Given the description of an element on the screen output the (x, y) to click on. 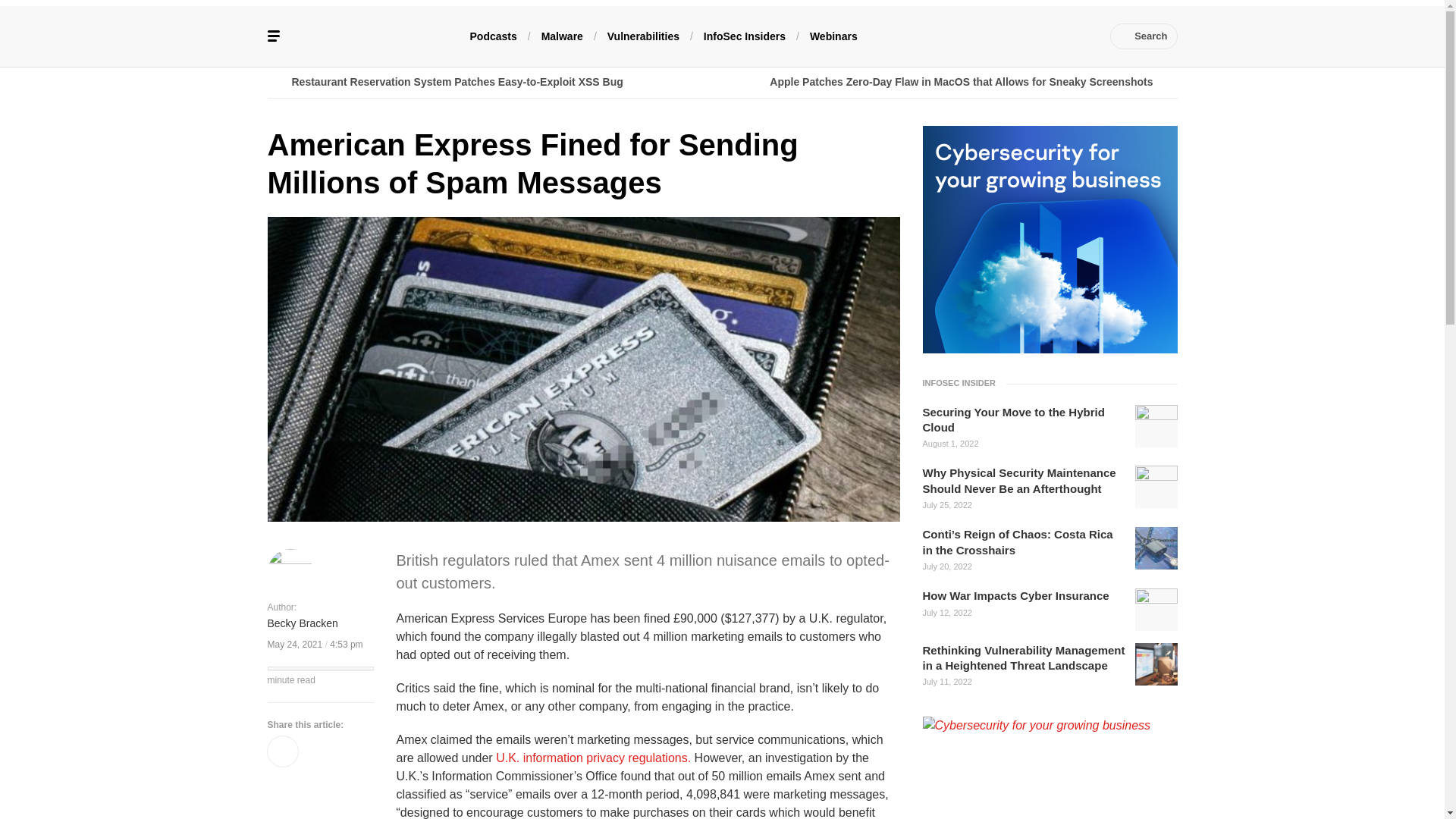
Search (1143, 36)
Webinars (833, 35)
Instagram (1057, 36)
Threatpost (379, 36)
Facebook (944, 36)
Becky Bracken (301, 623)
U.K. information privacy regulations. (593, 757)
RSS (1080, 36)
InfoSec Insiders (744, 35)
Podcasts (493, 35)
